Given the description of an element on the screen output the (x, y) to click on. 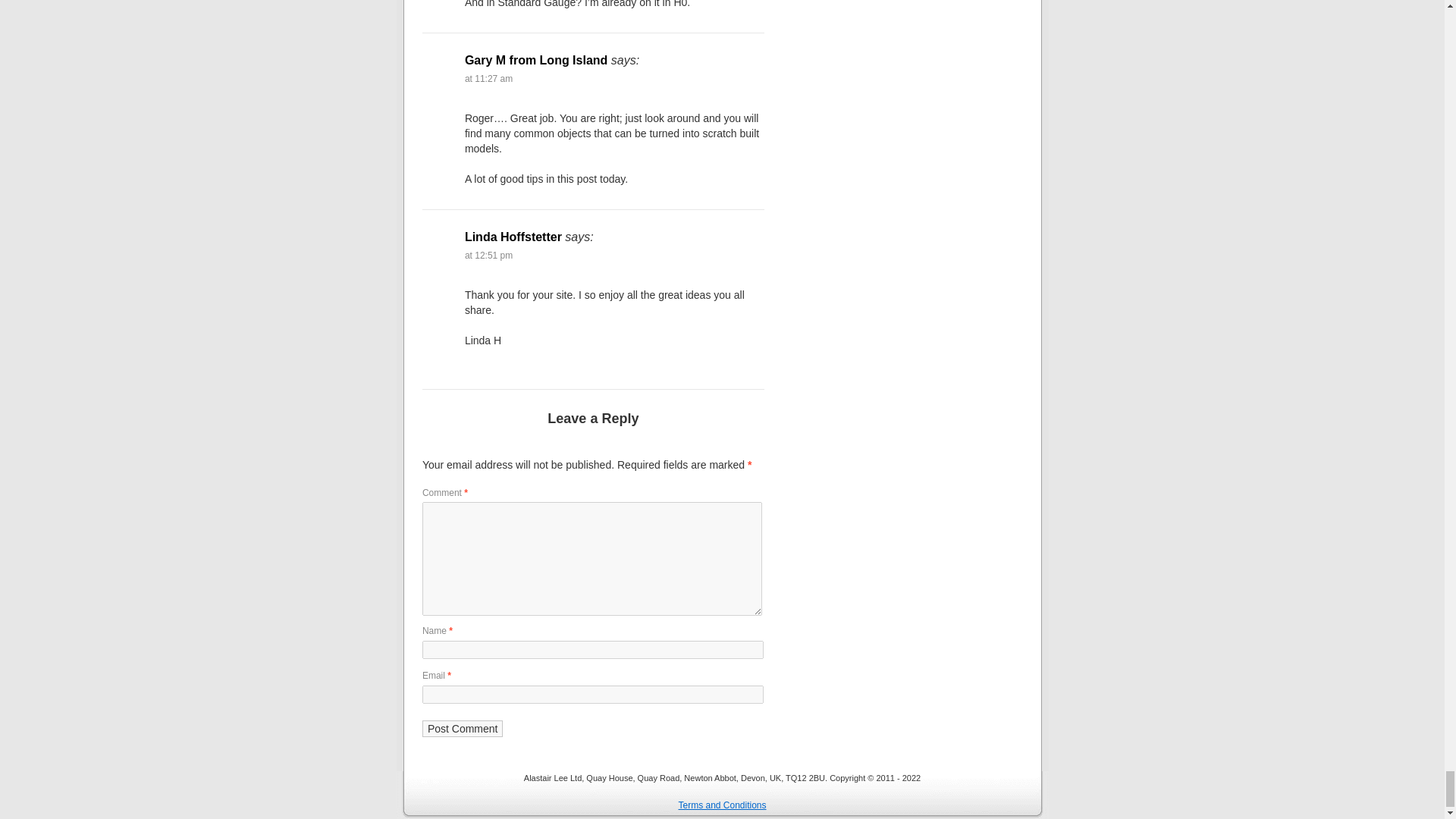
Post Comment (462, 728)
